Given the description of an element on the screen output the (x, y) to click on. 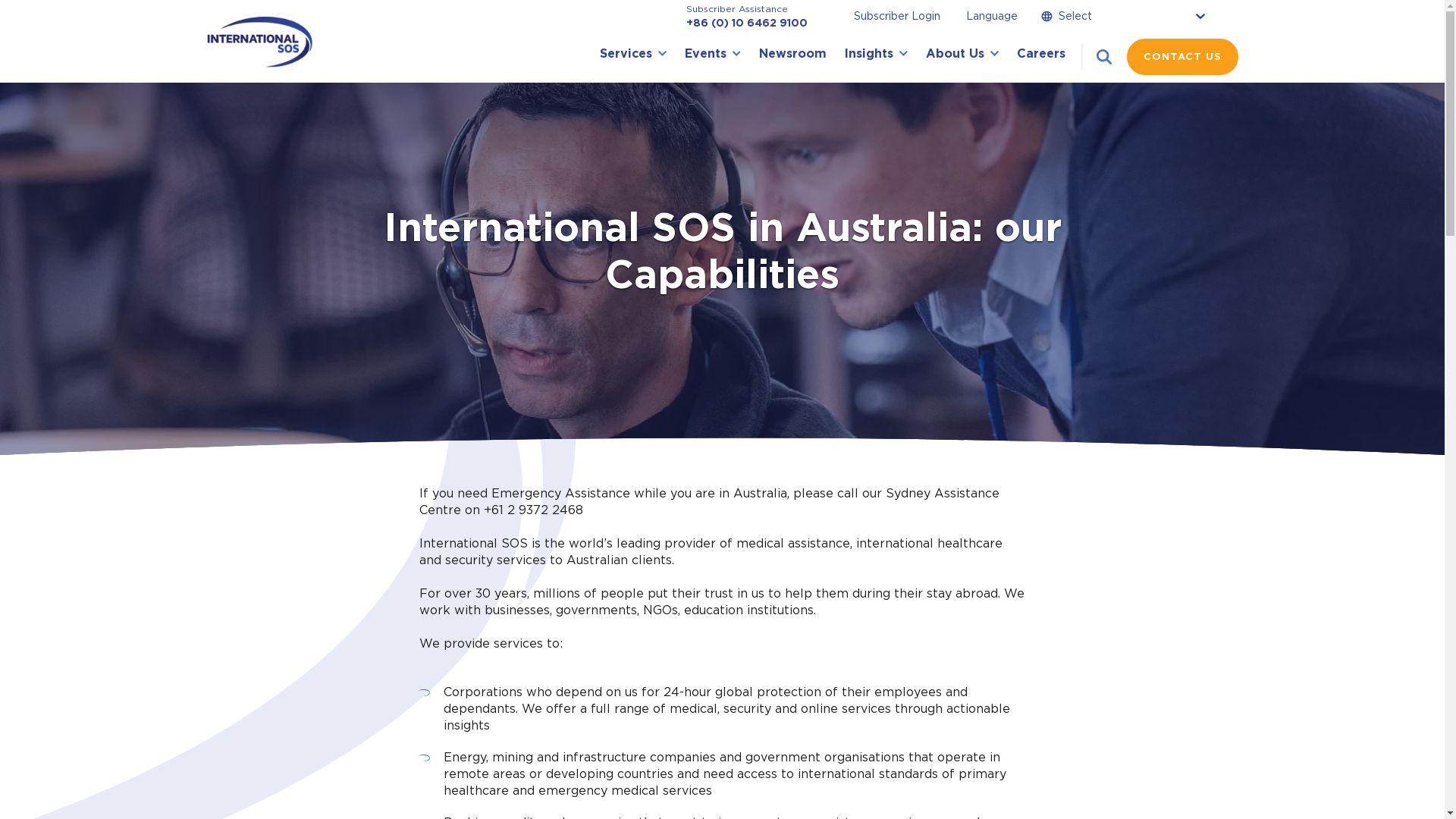
Newsroom Element type: text (792, 56)
+86 (0) 10 6462 9100 Element type: text (745, 22)
Insights Element type: text (876, 56)
Skip to content Element type: text (0, 0)
Events Element type: text (711, 56)
Subscriber Login Element type: text (886, 15)
About Us Element type: text (961, 56)
Services Element type: text (632, 56)
Careers Element type: text (1040, 56)
CONTACT US Element type: text (1182, 55)
